Given the description of an element on the screen output the (x, y) to click on. 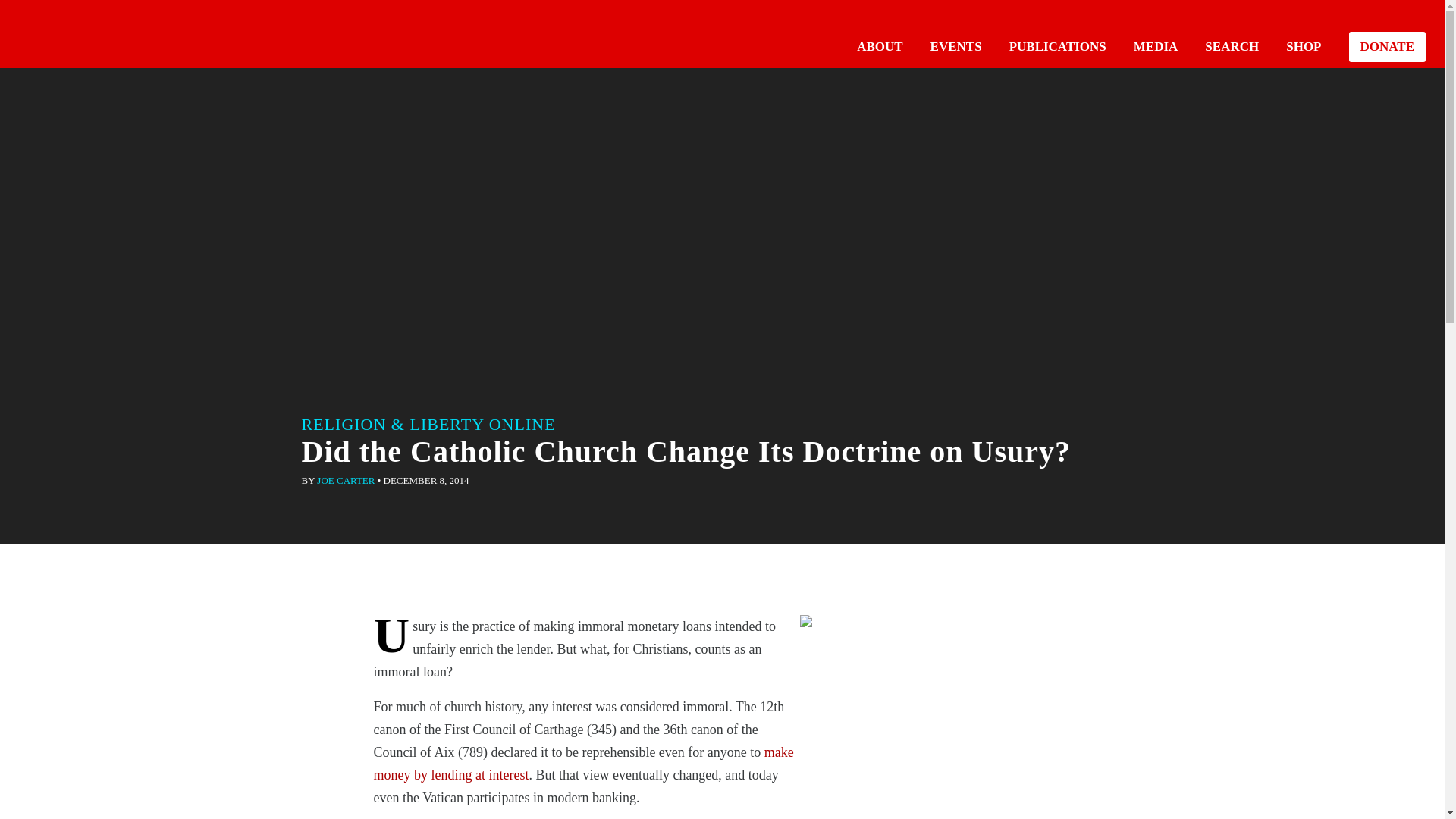
Posts by Joe Carter (345, 480)
make money by lending at interest (582, 763)
MEDIA (1155, 46)
ABOUT (879, 46)
EVENTS (955, 46)
SHOP (1302, 46)
The Acton Institute (60, 31)
JOE CARTER (345, 480)
DONATE (1387, 46)
SEARCH (1232, 46)
PUBLICATIONS (1057, 46)
